Given the description of an element on the screen output the (x, y) to click on. 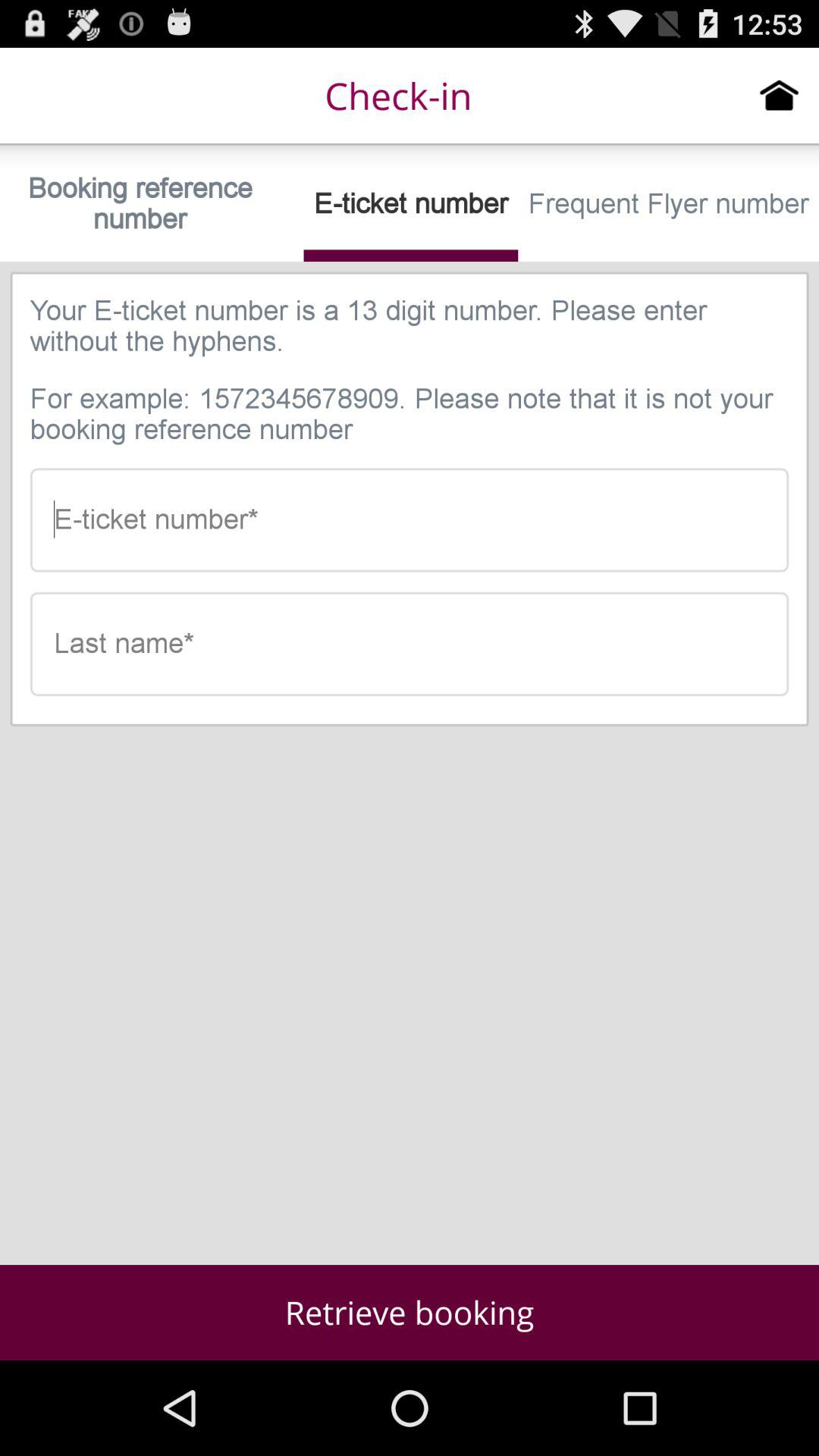
tap the icon to the right of e-ticket number icon (668, 203)
